Given the description of an element on the screen output the (x, y) to click on. 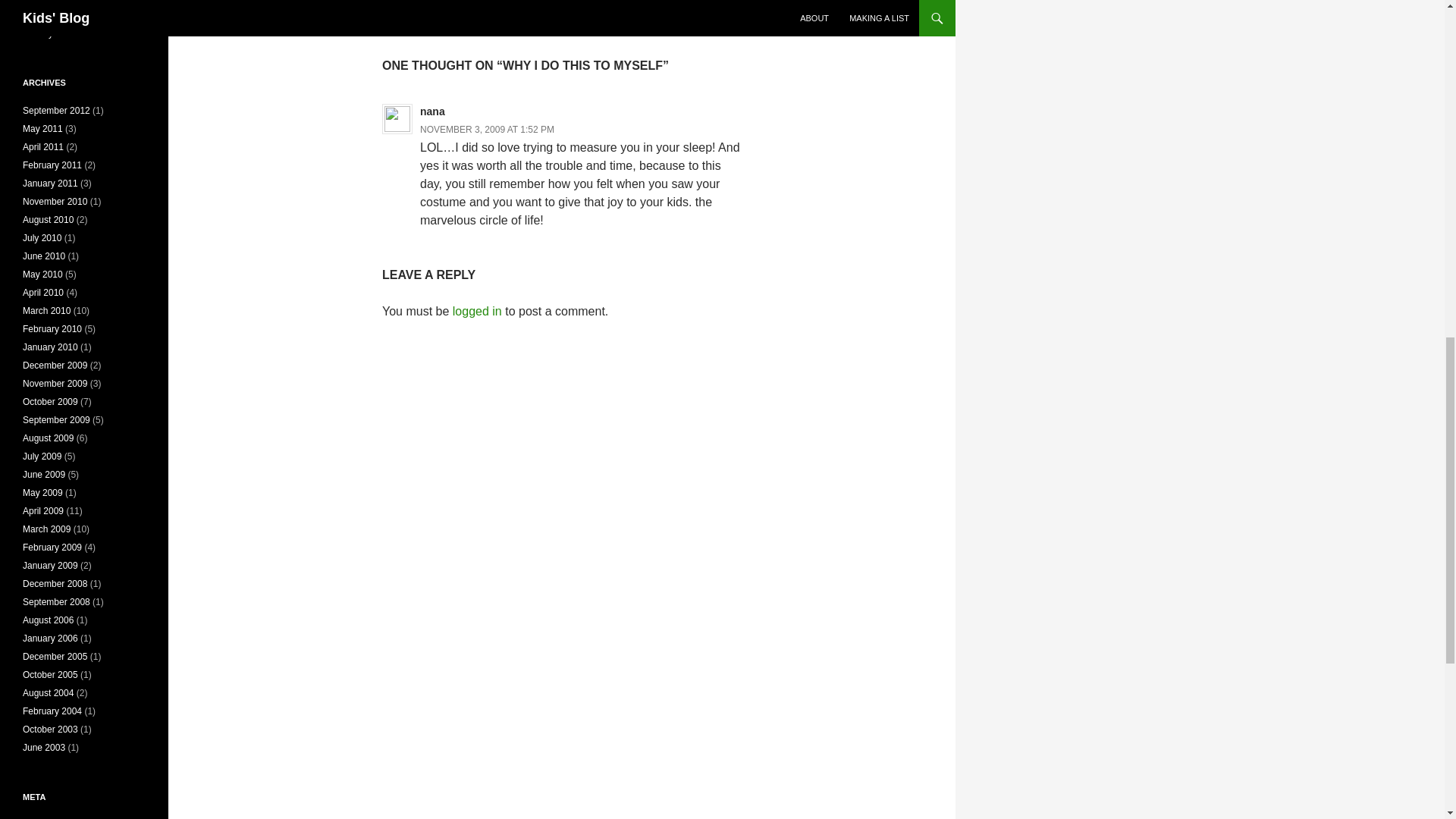
NOVEMBER 3, 2009 AT 1:52 PM (561, 10)
logged in (487, 129)
